Given the description of an element on the screen output the (x, y) to click on. 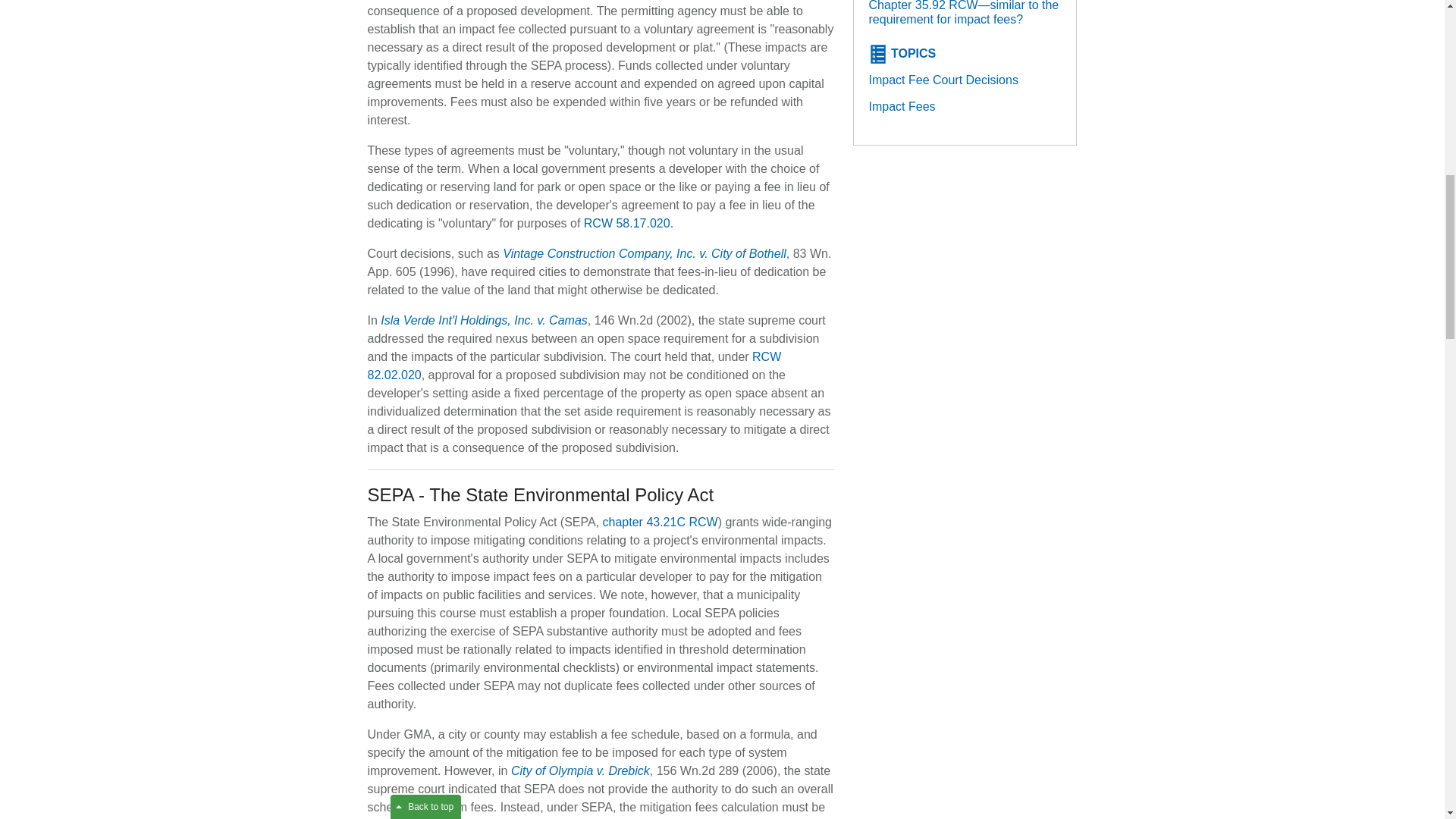
Impact Fees (902, 106)
TOPICS section (913, 52)
Impact Fee Court Decisions (943, 79)
